Given the description of an element on the screen output the (x, y) to click on. 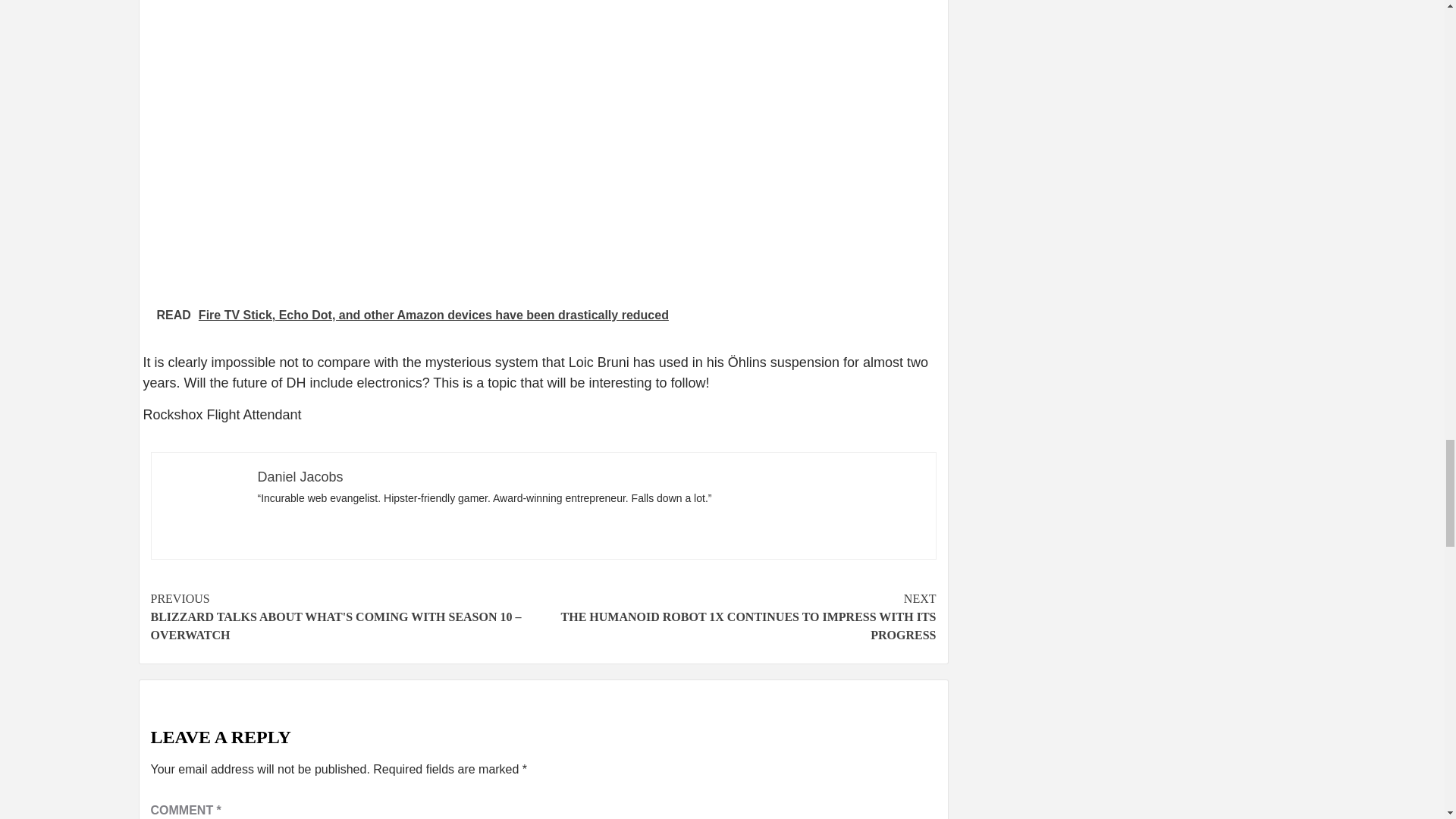
Daniel Jacobs (300, 476)
